Given the description of an element on the screen output the (x, y) to click on. 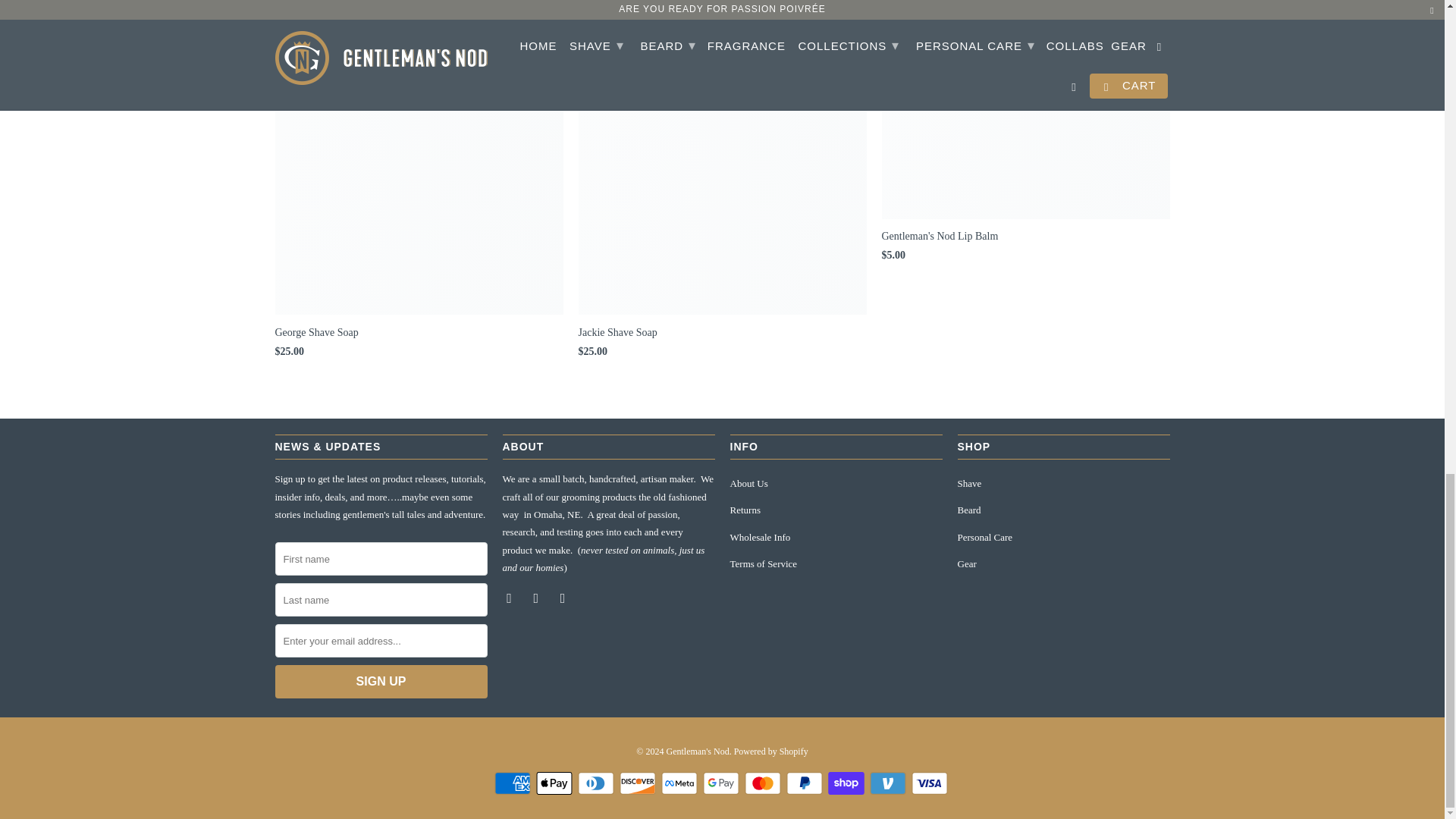
Venmo (888, 783)
Diners Club (597, 783)
Discover (638, 783)
American Express (514, 783)
Meta Pay (680, 783)
Mastercard (764, 783)
Google Pay (721, 783)
Shop Pay (847, 783)
PayPal (805, 783)
Sign Up (380, 681)
